Given the description of an element on the screen output the (x, y) to click on. 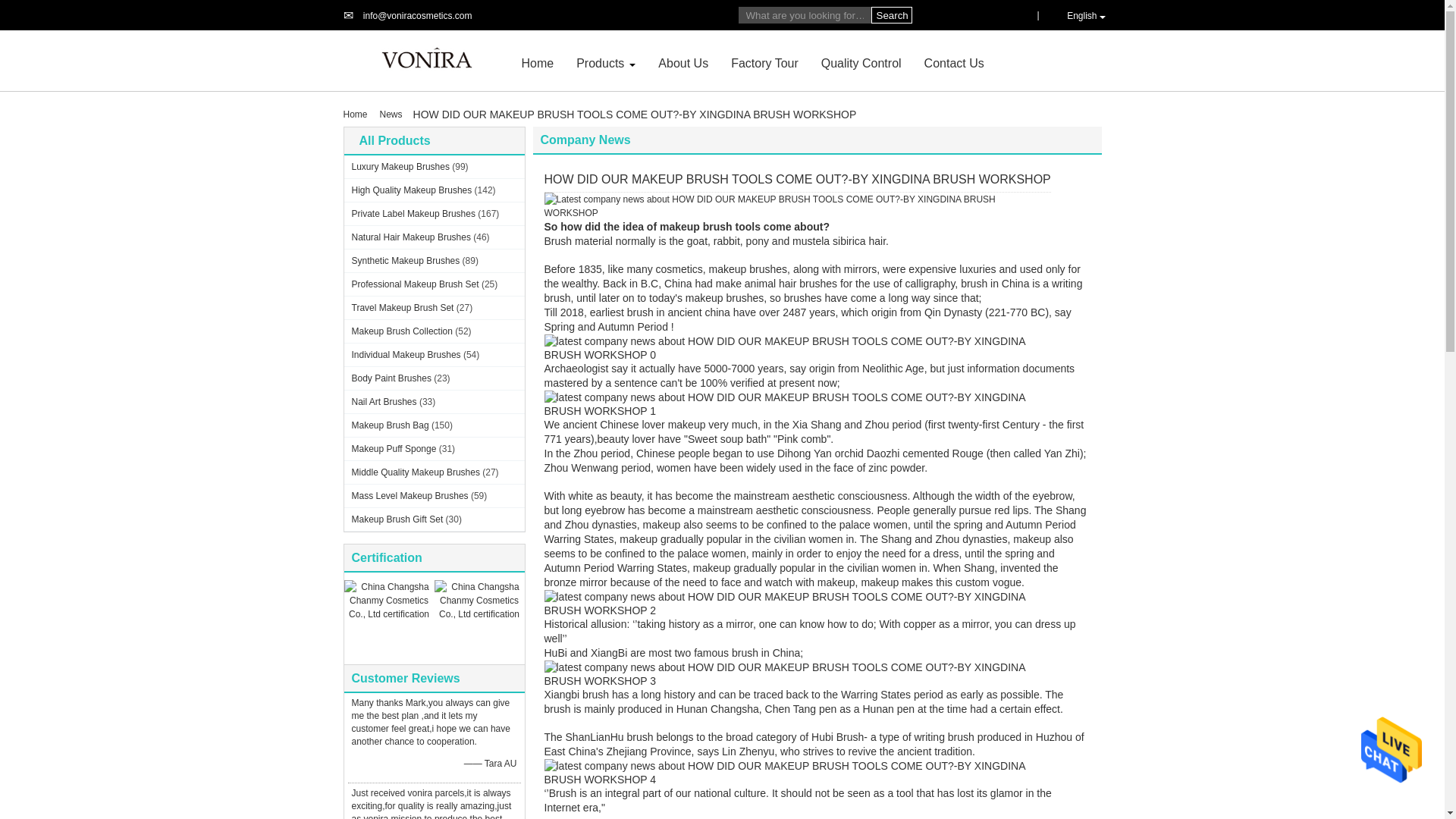
Products (600, 62)
Changsha Chanmy Cosmetics Co., Ltd (416, 15)
Home (537, 62)
Request A Quote (1012, 14)
Search (890, 14)
English (1078, 15)
